Given the description of an element on the screen output the (x, y) to click on. 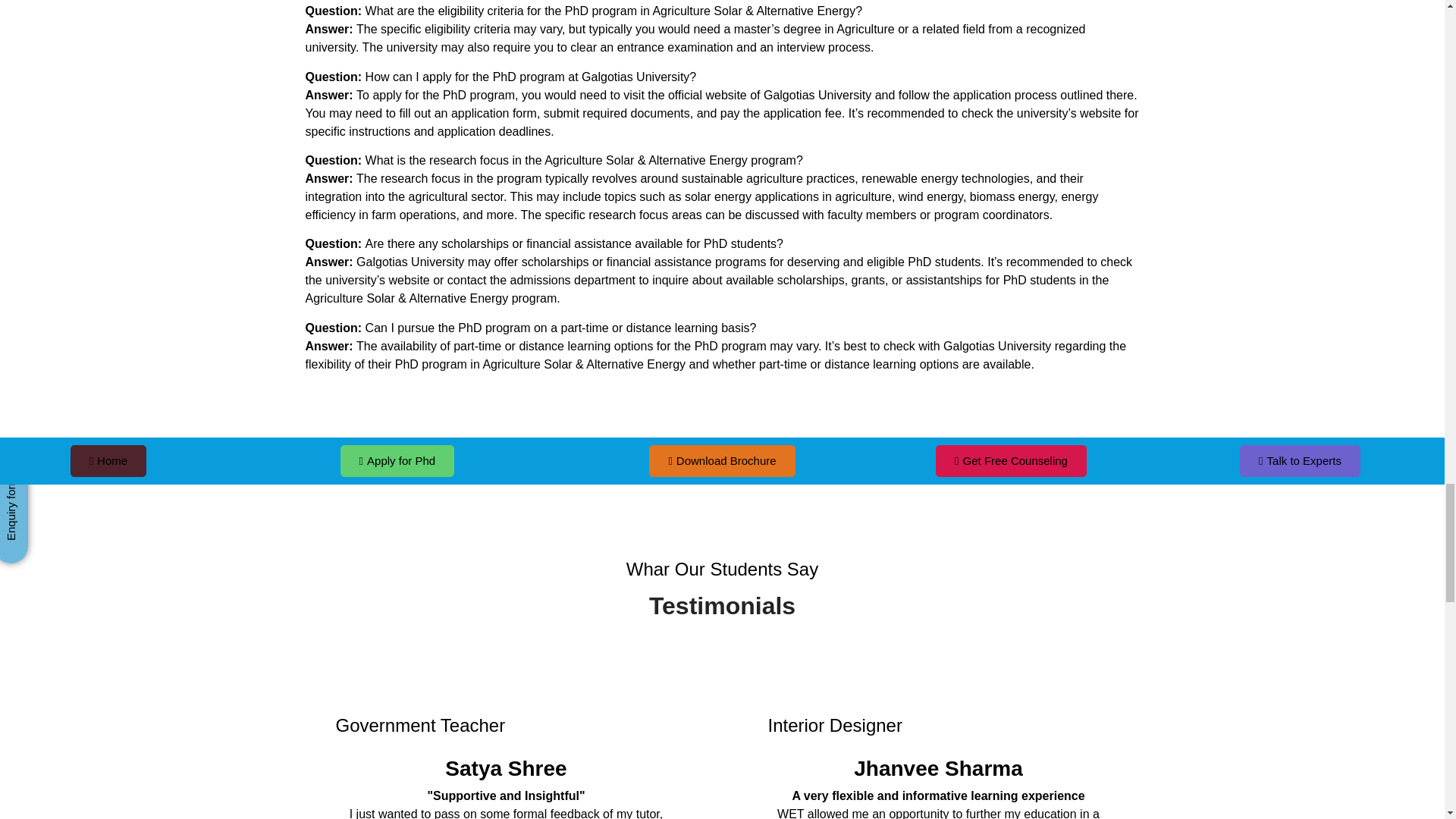
Talk to Experts (1299, 460)
Get Free Counseling (1011, 460)
Download Brochure (721, 460)
Apply for Phd (397, 460)
Home (108, 460)
